Given the description of an element on the screen output the (x, y) to click on. 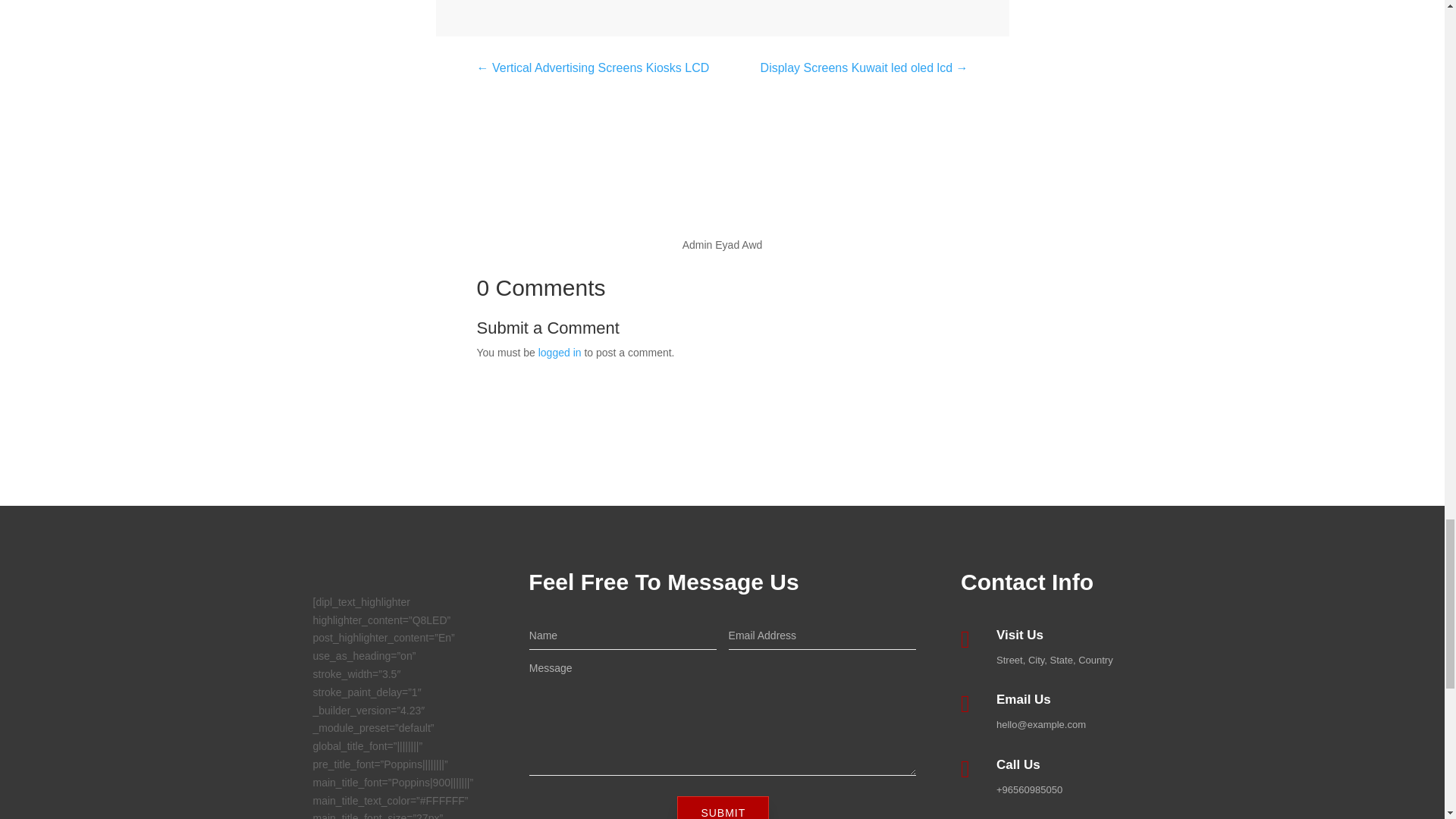
logged in (559, 352)
SUBMIT (722, 807)
